Given the description of an element on the screen output the (x, y) to click on. 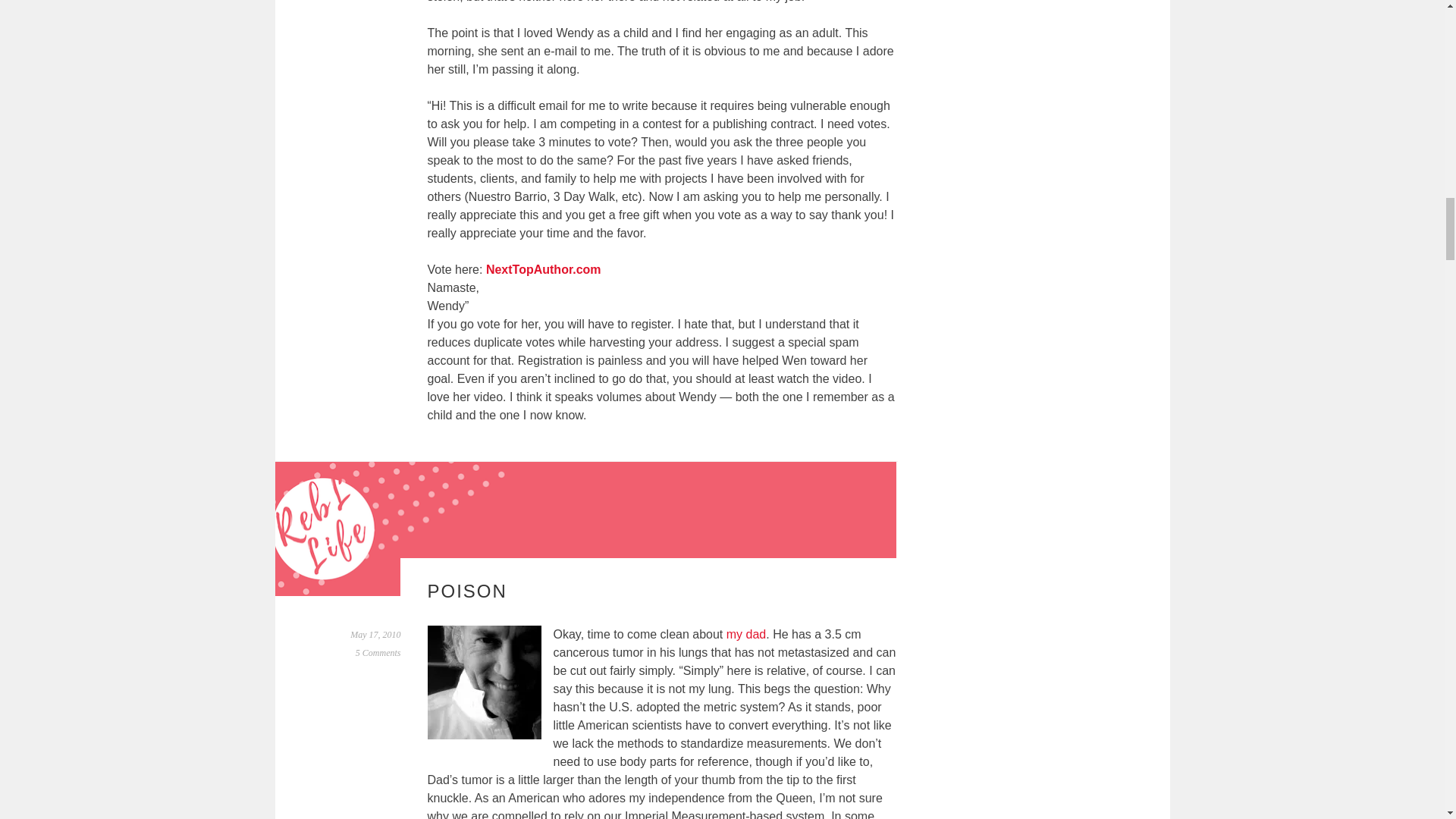
NextTopAuthor.com (543, 269)
5 Comments (378, 652)
my dad (745, 634)
May 17, 2010 (375, 634)
POISON (467, 590)
Permalink to Poison (375, 634)
